Given the description of an element on the screen output the (x, y) to click on. 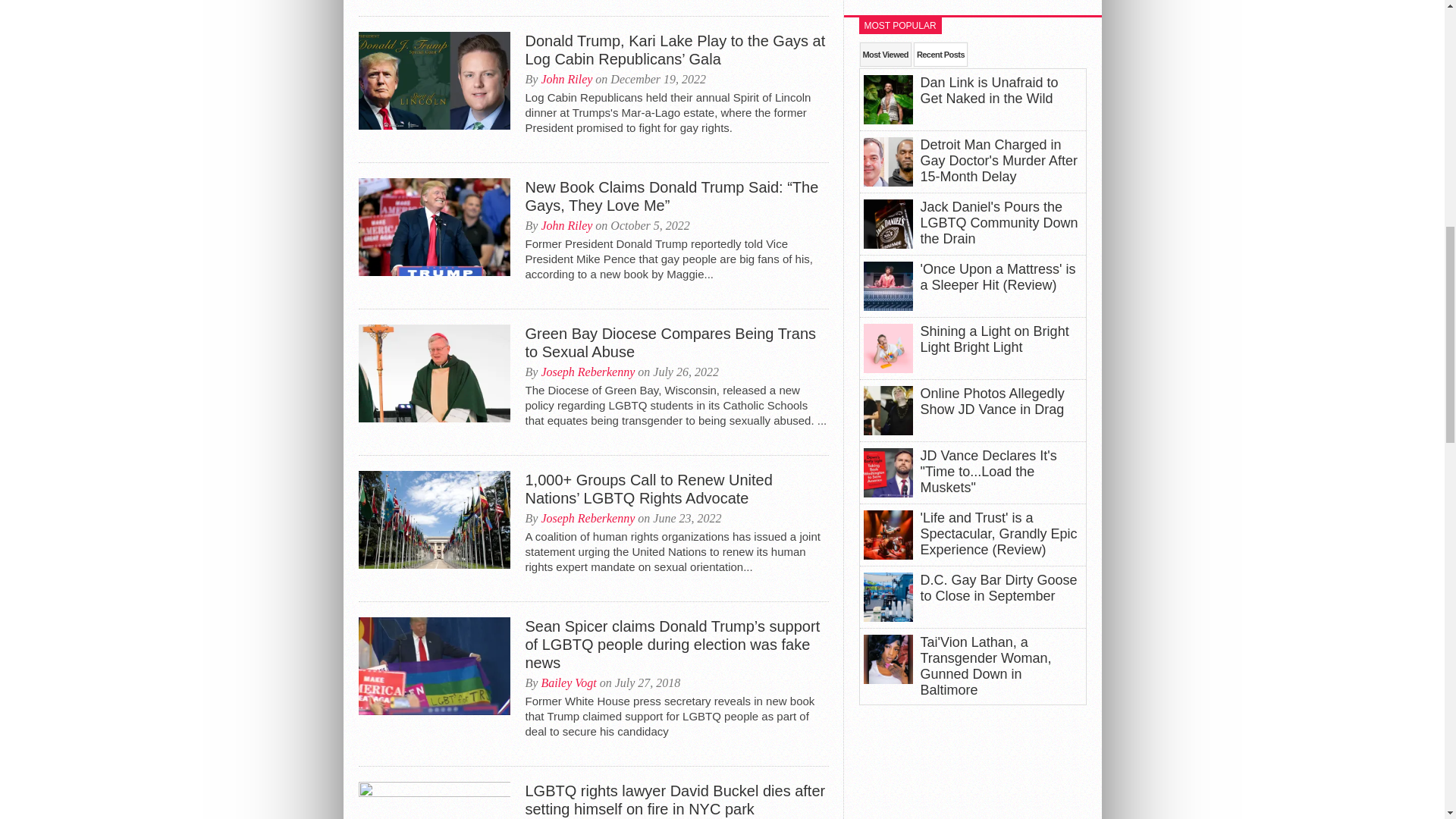
Posts by Joseph Reberkenny (587, 371)
Posts by Joseph Reberkenny (587, 517)
Posts by John Riley (566, 225)
Posts by John Riley (566, 78)
